Given the description of an element on the screen output the (x, y) to click on. 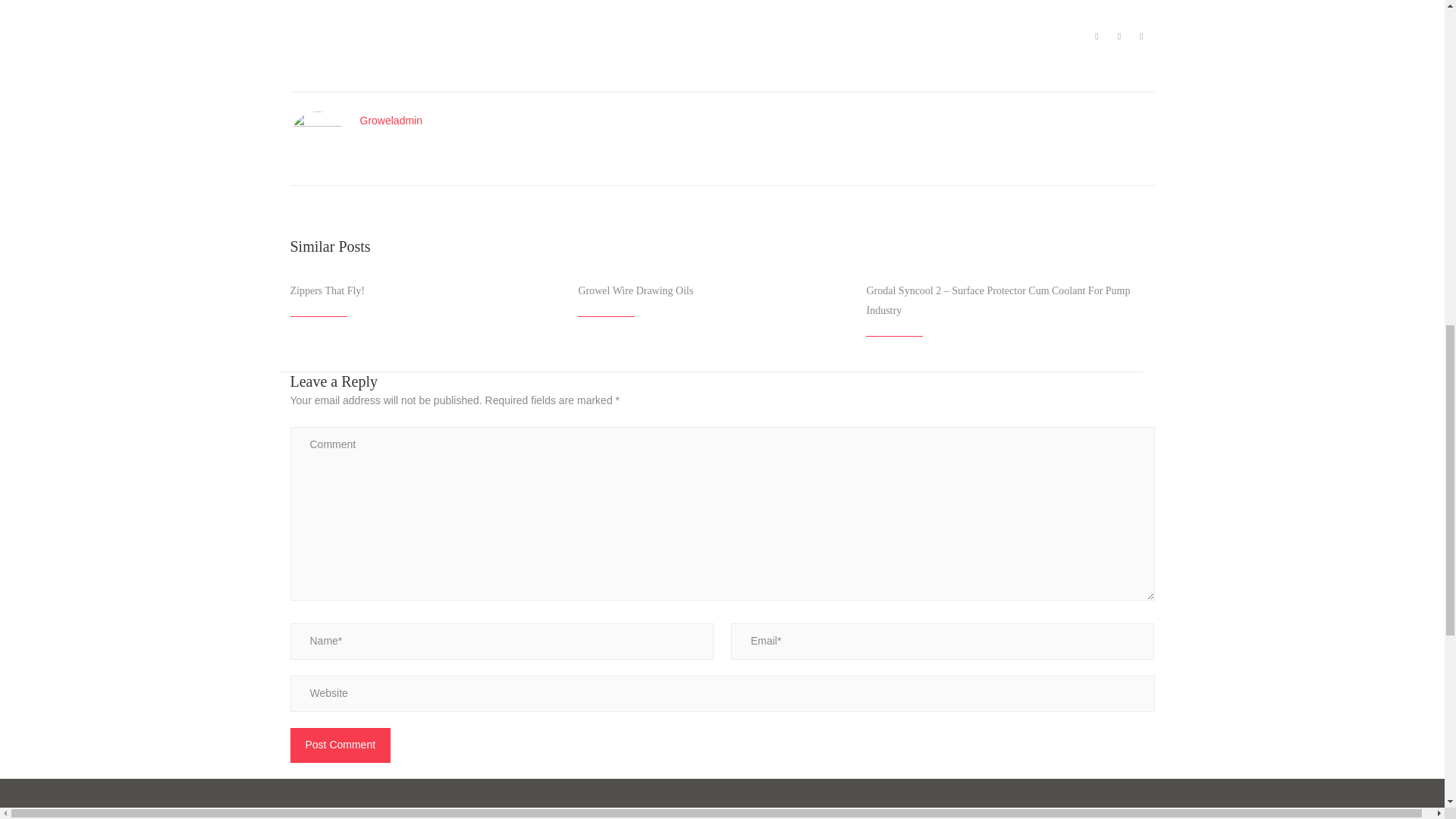
Posts by Groweladmin (390, 119)
Post Comment (339, 745)
